Given the description of an element on the screen output the (x, y) to click on. 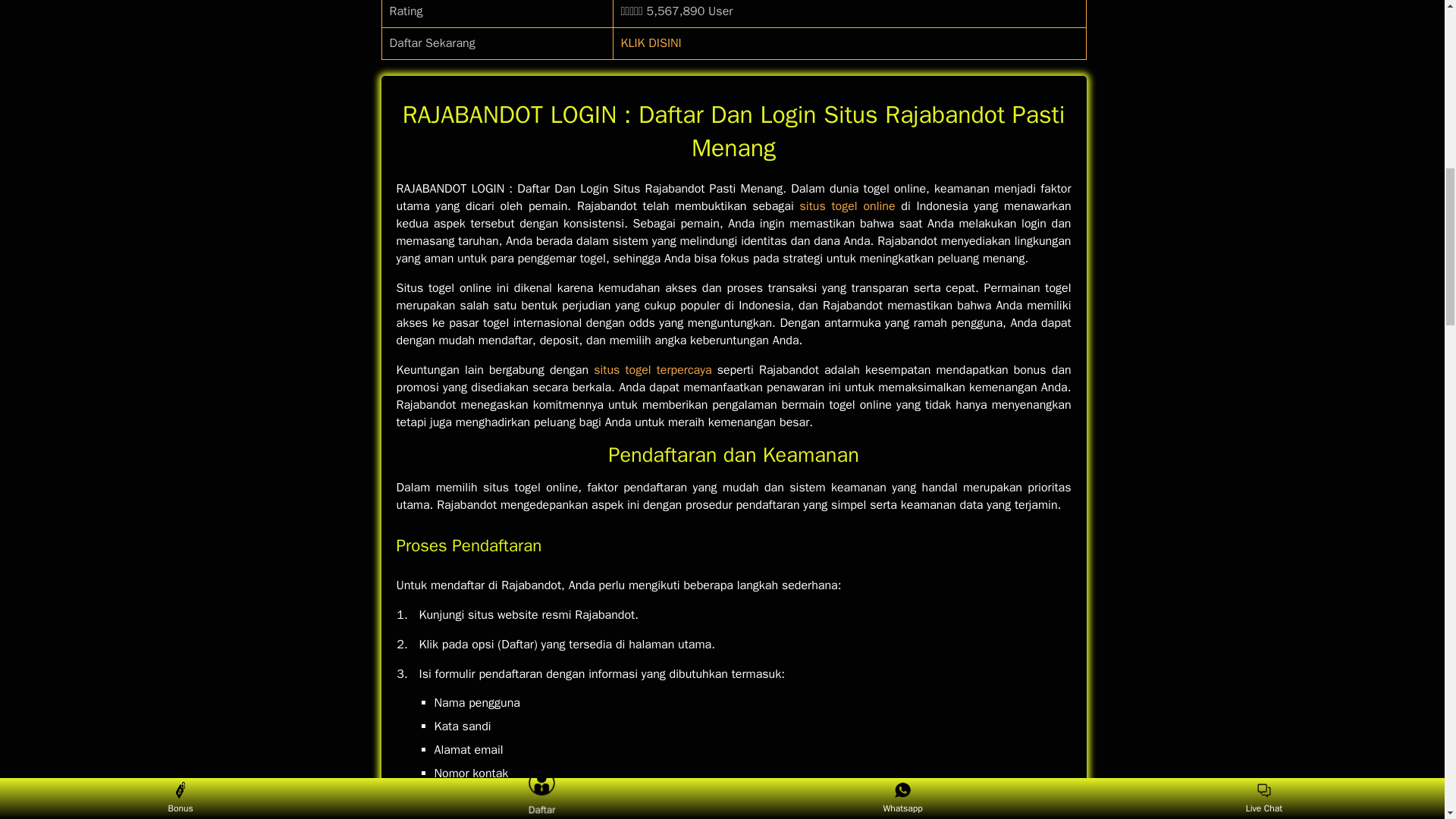
situs togel terpercaya (652, 369)
situs togel online (847, 206)
KLIK DISINI (651, 43)
